Given the description of an element on the screen output the (x, y) to click on. 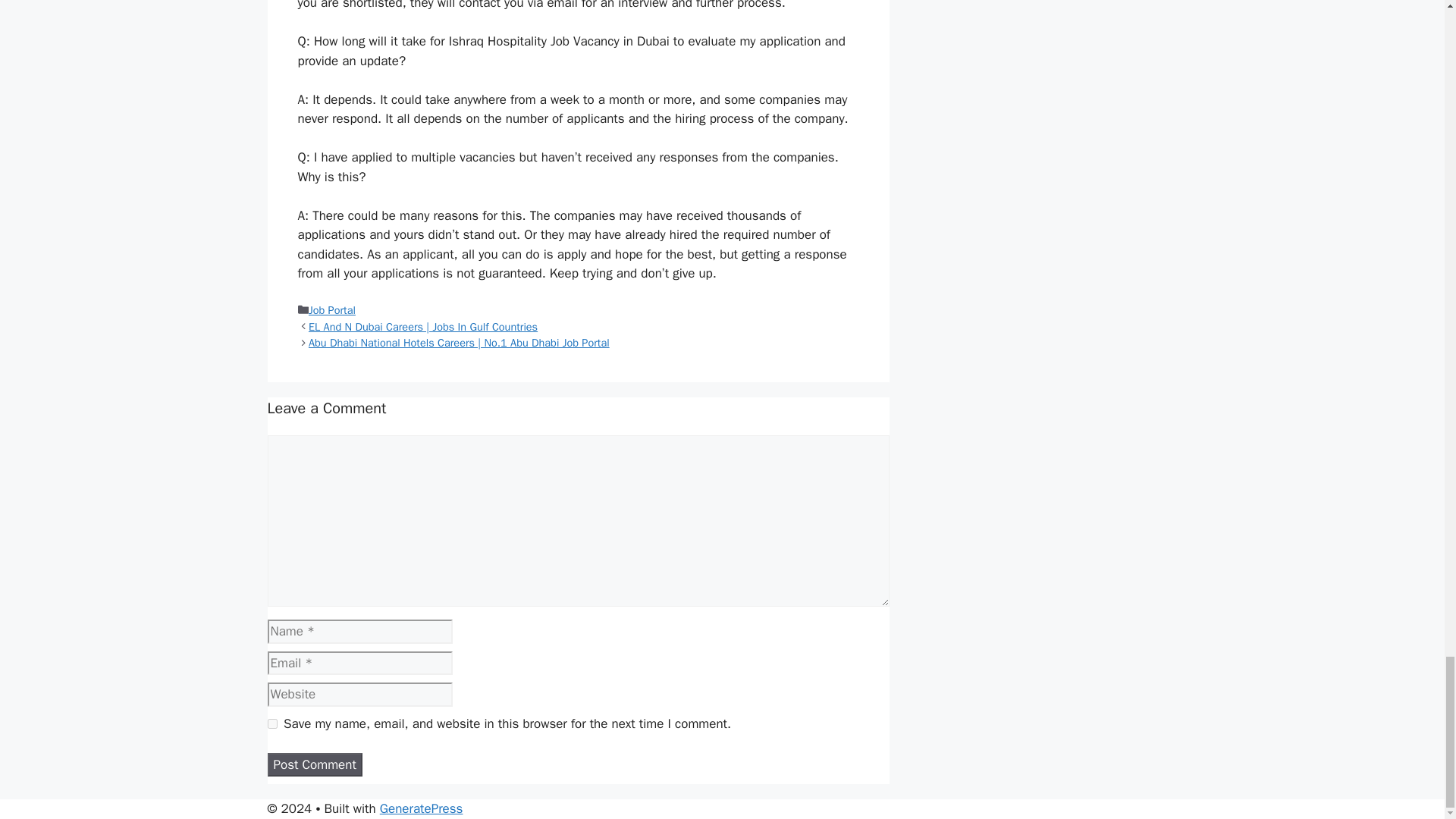
yes (271, 723)
Post Comment (313, 764)
Job Portal (331, 309)
Post Comment (313, 764)
GeneratePress (421, 808)
